Given the description of an element on the screen output the (x, y) to click on. 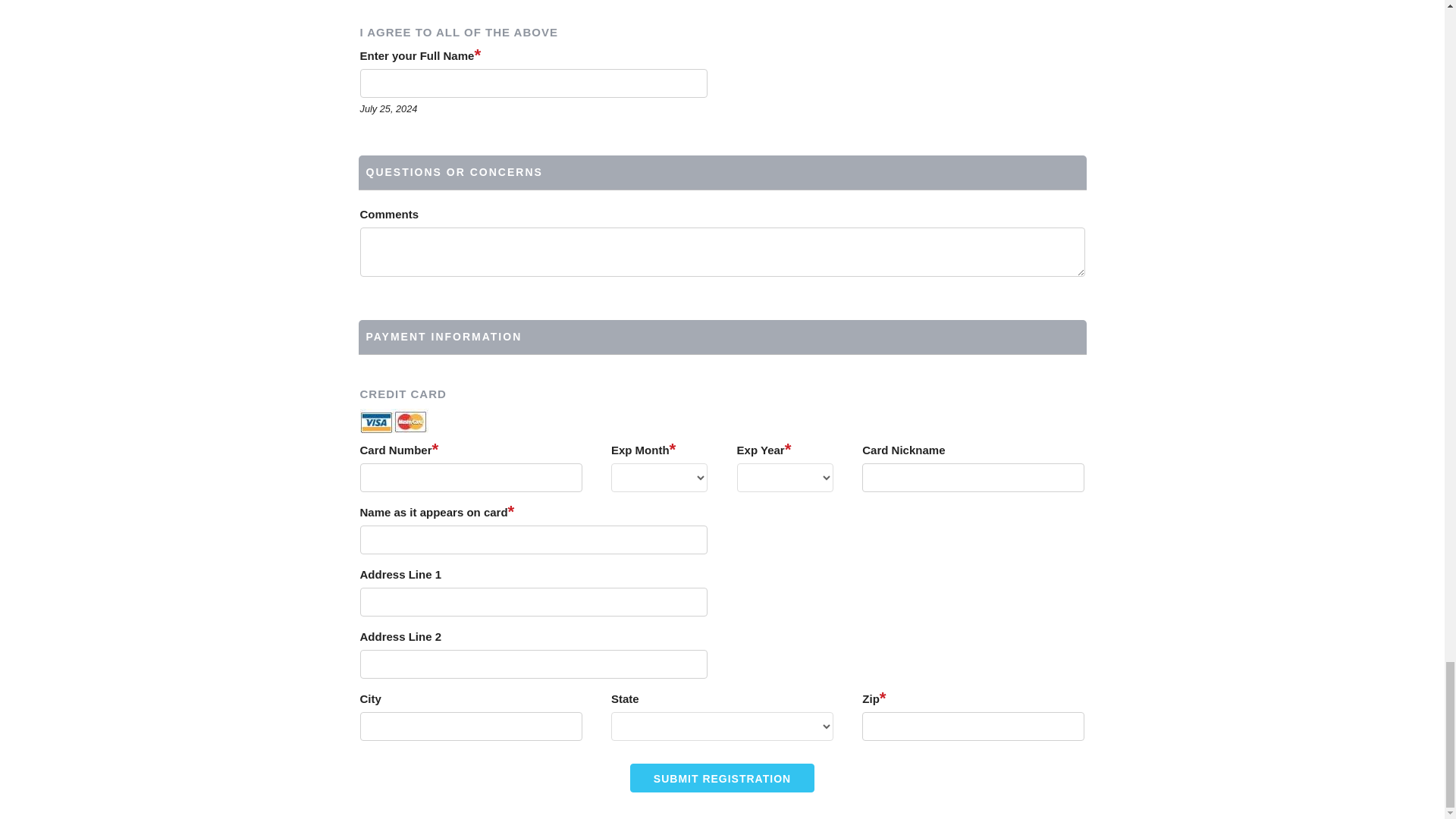
Submit this information (721, 777)
